Given the description of an element on the screen output the (x, y) to click on. 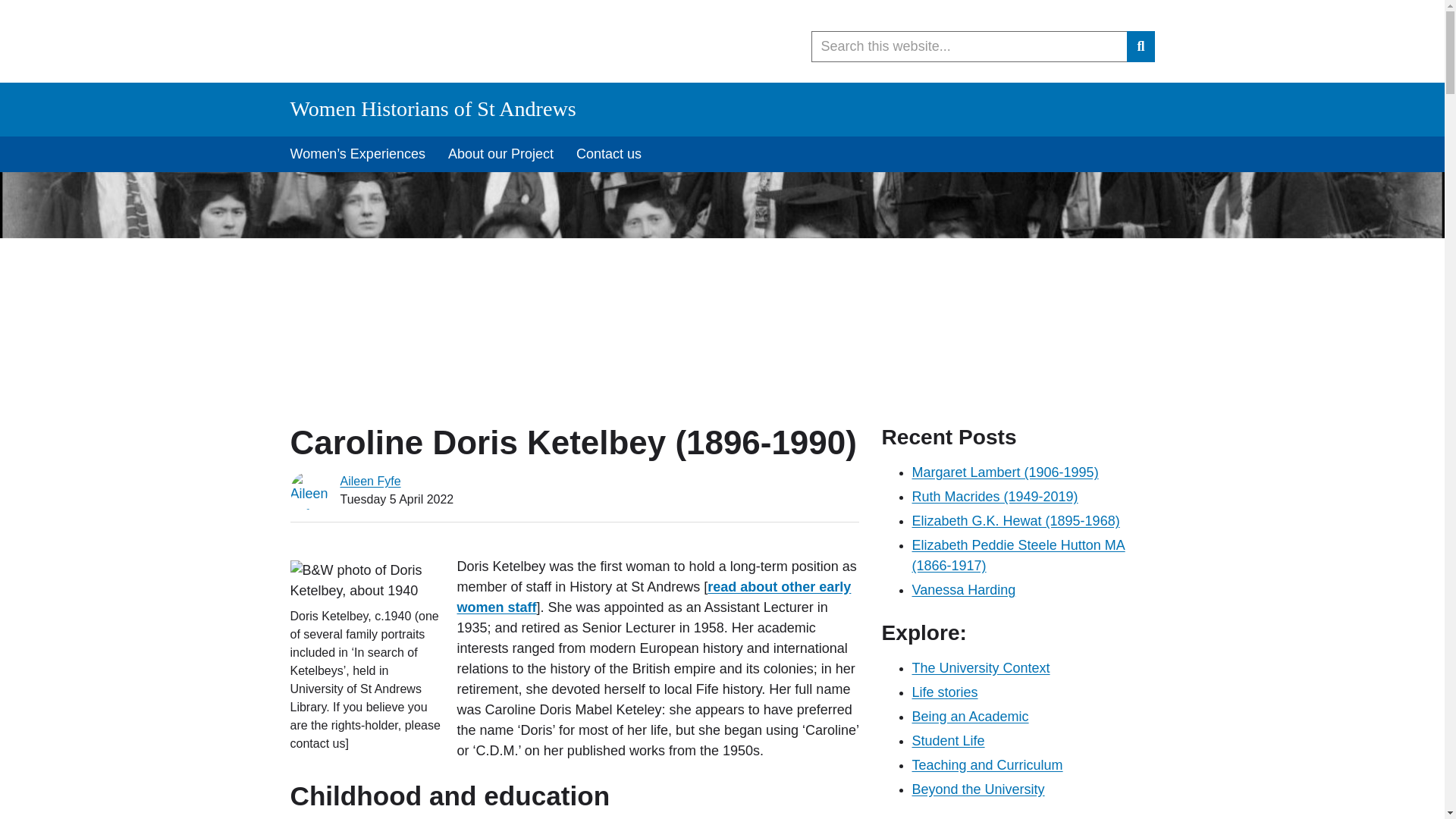
read about other early women staff (653, 597)
About our Project (500, 153)
Aileen Fyfe (369, 481)
Contact us (608, 153)
Women Historians of St Andrews (432, 108)
Posts by Aileen Fyfe (369, 481)
Submit (1140, 46)
